Given the description of an element on the screen output the (x, y) to click on. 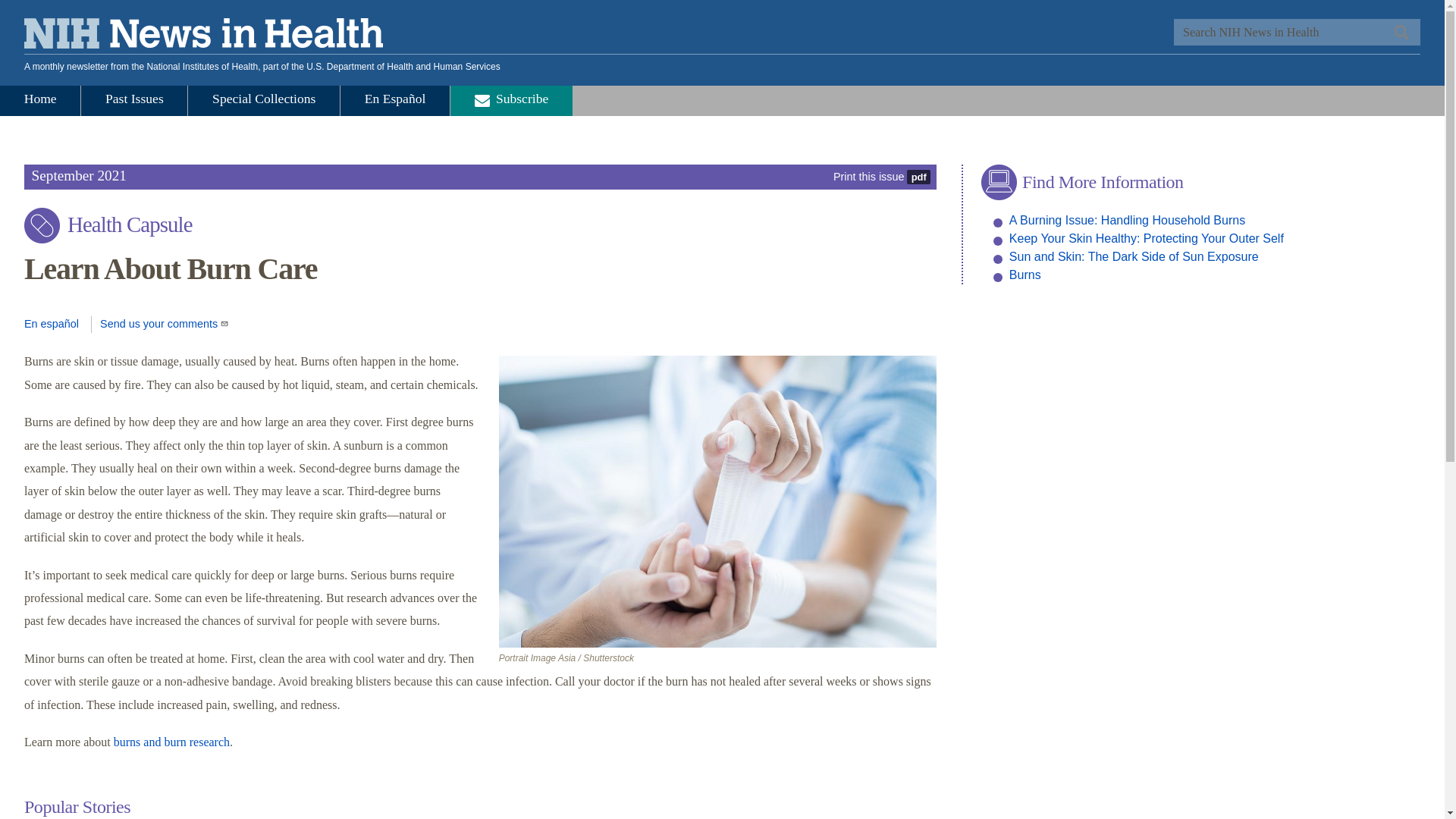
A Burning Issue: Handling Household Burns (1126, 219)
Special Collections (263, 100)
NIH News in Health (203, 37)
Past Issues (134, 100)
Keep Your Skin Healthy: Protecting Your Outer Self (1146, 237)
Burns (1025, 274)
Search NIH News in Health (1297, 31)
Sun and Skin: The Dark Side of Sun Exposure (1134, 256)
Search (1400, 31)
Close up of a doctor bandaging the upper limb on a patient (718, 501)
